Given the description of an element on the screen output the (x, y) to click on. 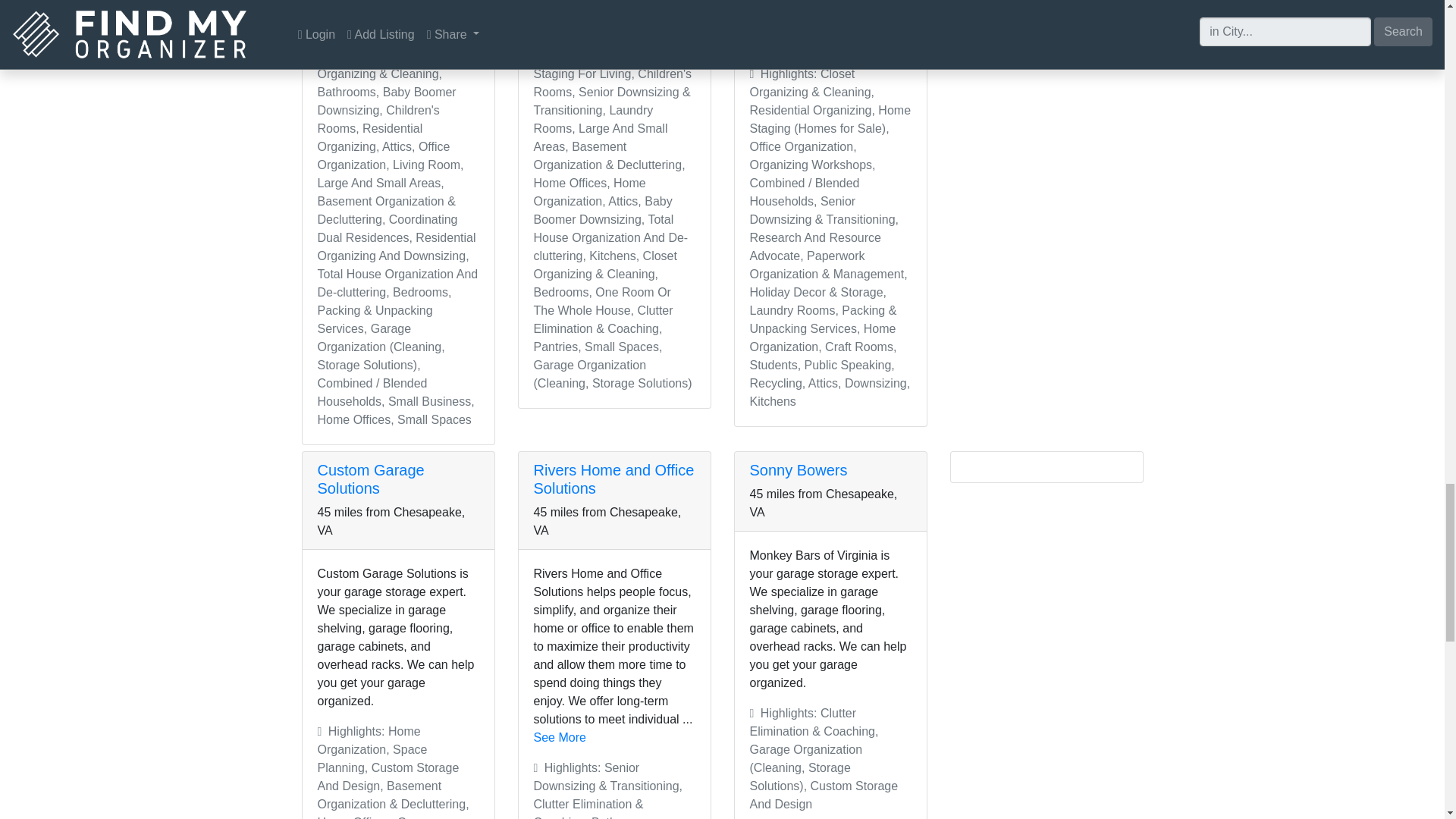
See More (388, 24)
See More (560, 24)
